Given the description of an element on the screen output the (x, y) to click on. 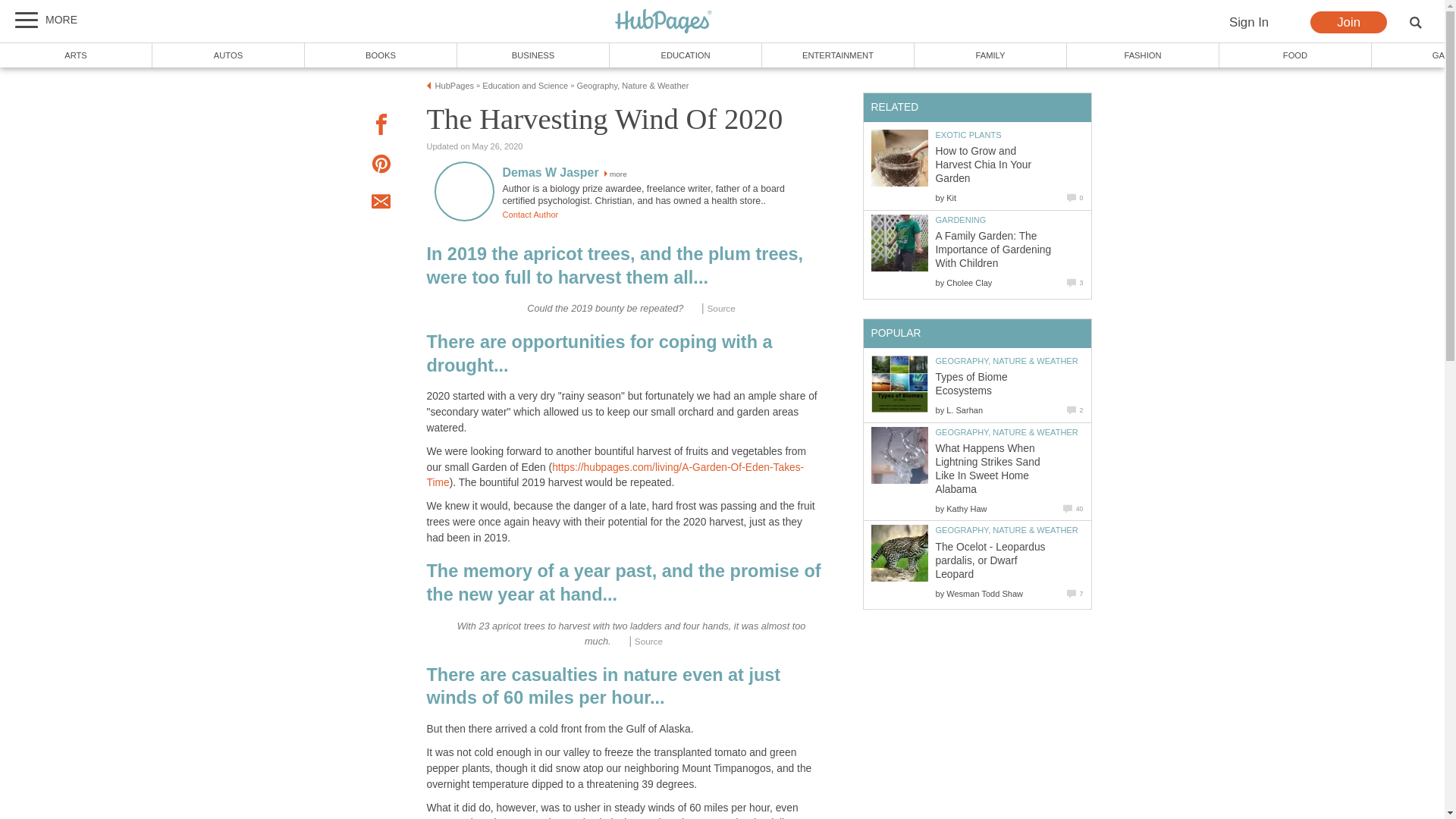
HubPages (663, 21)
EXOTIC PLANTS (968, 134)
BOOKS (380, 55)
Email (380, 203)
FAMILY (990, 55)
Types of Biome Ecosystems (898, 383)
Contact Author (529, 214)
HubPages (663, 22)
EDUCATION (685, 55)
BUSINESS (533, 55)
HubPages (663, 22)
Education and Science (524, 85)
Sign In (1248, 22)
FOOD (1295, 55)
ARTS (76, 55)
